Given the description of an element on the screen output the (x, y) to click on. 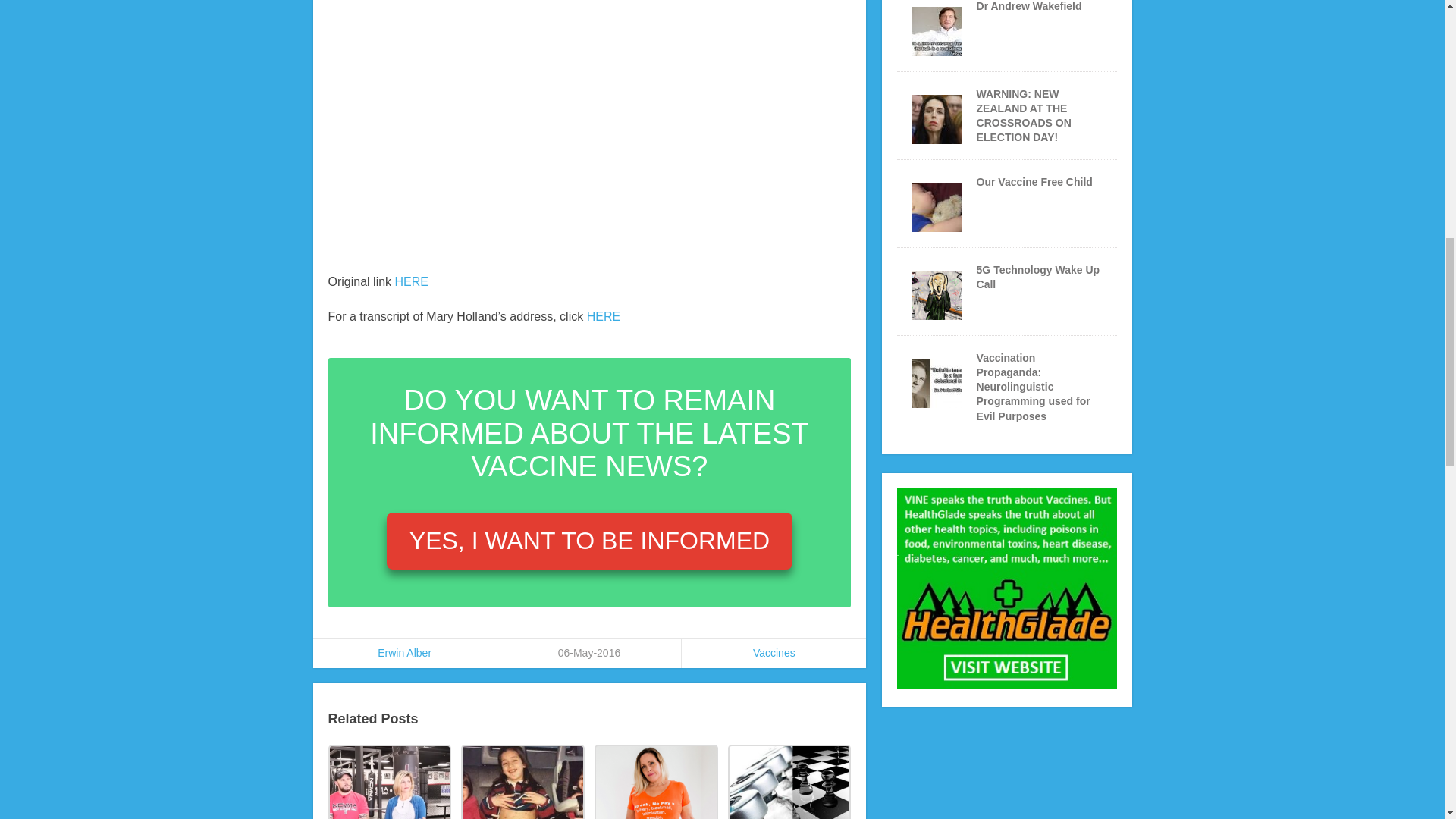
The Chickenpox, the Chickenpox Vaccine and Shingles (522, 781)
Allona Lahn, Australia - Natural Immunity Community (655, 781)
HERE (411, 281)
HERE (603, 316)
The Catone Family Tragedy (388, 781)
YES, I WANT TO BE INFORMED (589, 540)
The Game of Vaccines Explained - Jagannath Chatterjee (789, 781)
Erwin Alber (403, 653)
Vaccines (773, 653)
